Given the description of an element on the screen output the (x, y) to click on. 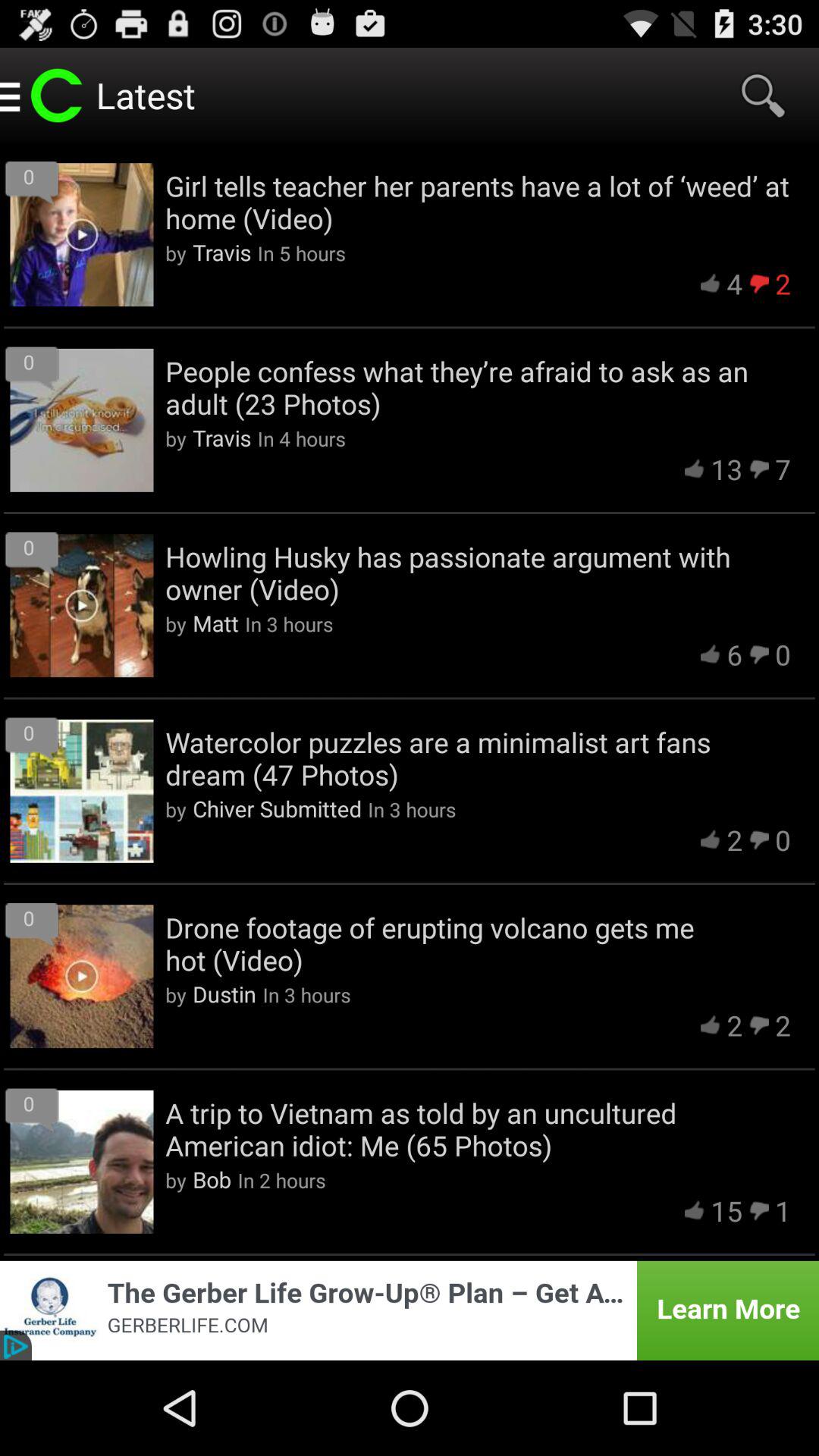
click on advertisement (409, 1310)
